Given the description of an element on the screen output the (x, y) to click on. 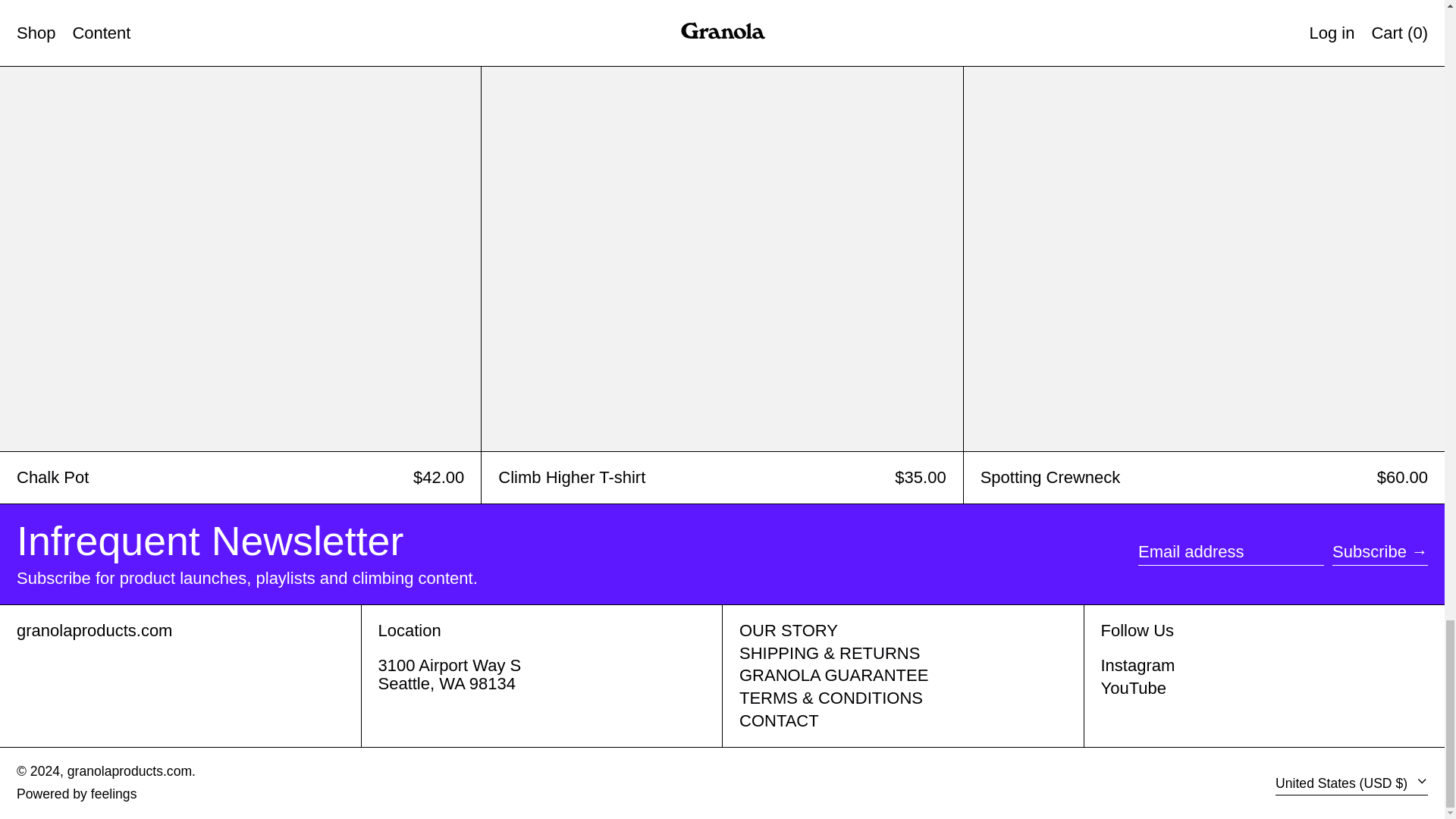
granolaproducts.com (93, 629)
GRANOLA GUARANTEE (833, 674)
OUR STORY (788, 629)
CONTACT (778, 720)
